Given the description of an element on the screen output the (x, y) to click on. 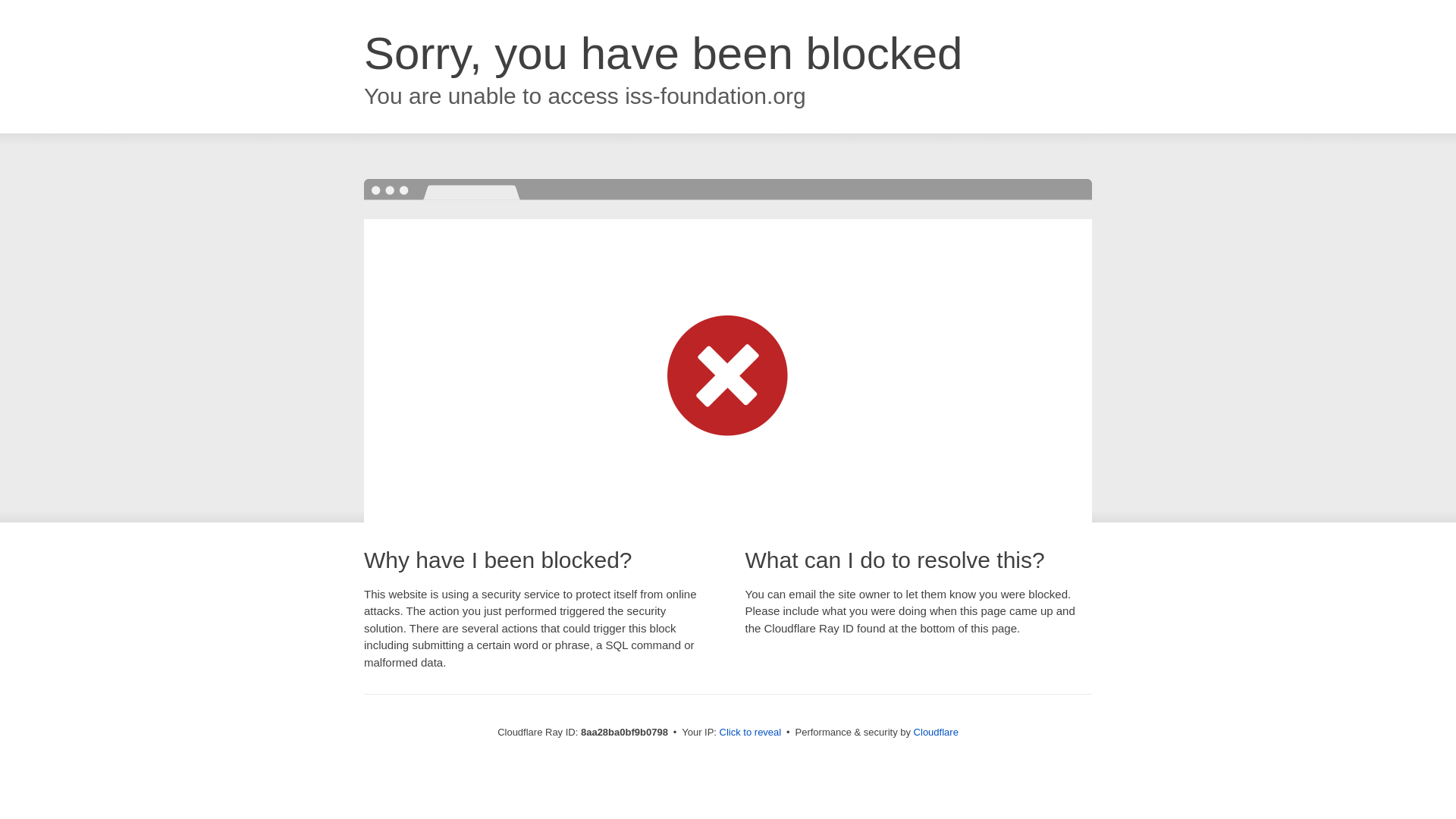
Click to reveal (750, 732)
Cloudflare (936, 731)
